Given the description of an element on the screen output the (x, y) to click on. 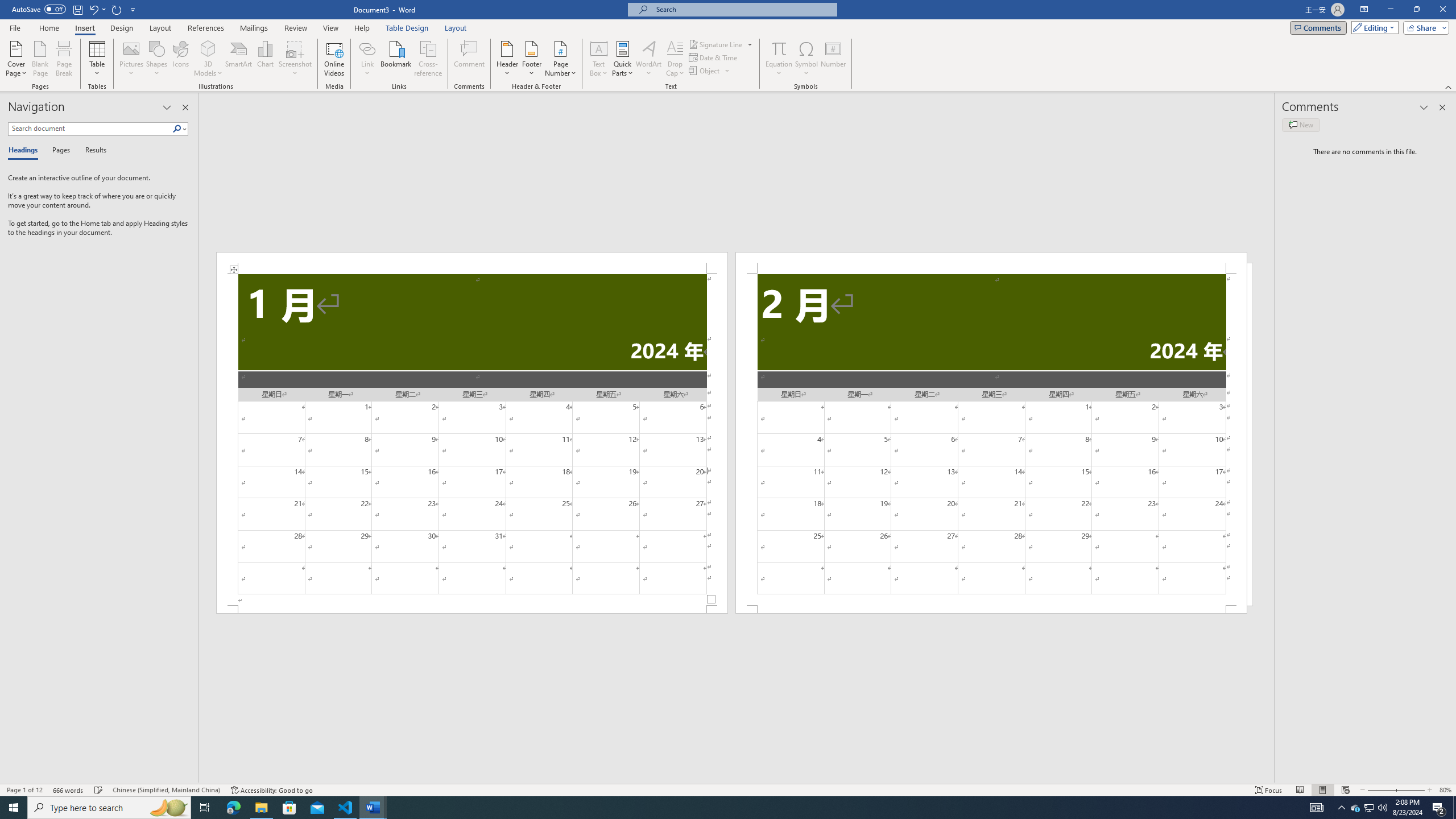
WordArt (648, 58)
Object... (709, 69)
Equation (778, 48)
Customize Quick Access Toolbar (133, 9)
Class: MsoCommandBar (728, 789)
Web Layout (1344, 790)
Print Layout (1322, 790)
Object... (705, 69)
Class: NetUIScrollBar (736, 778)
